Given the description of an element on the screen output the (x, y) to click on. 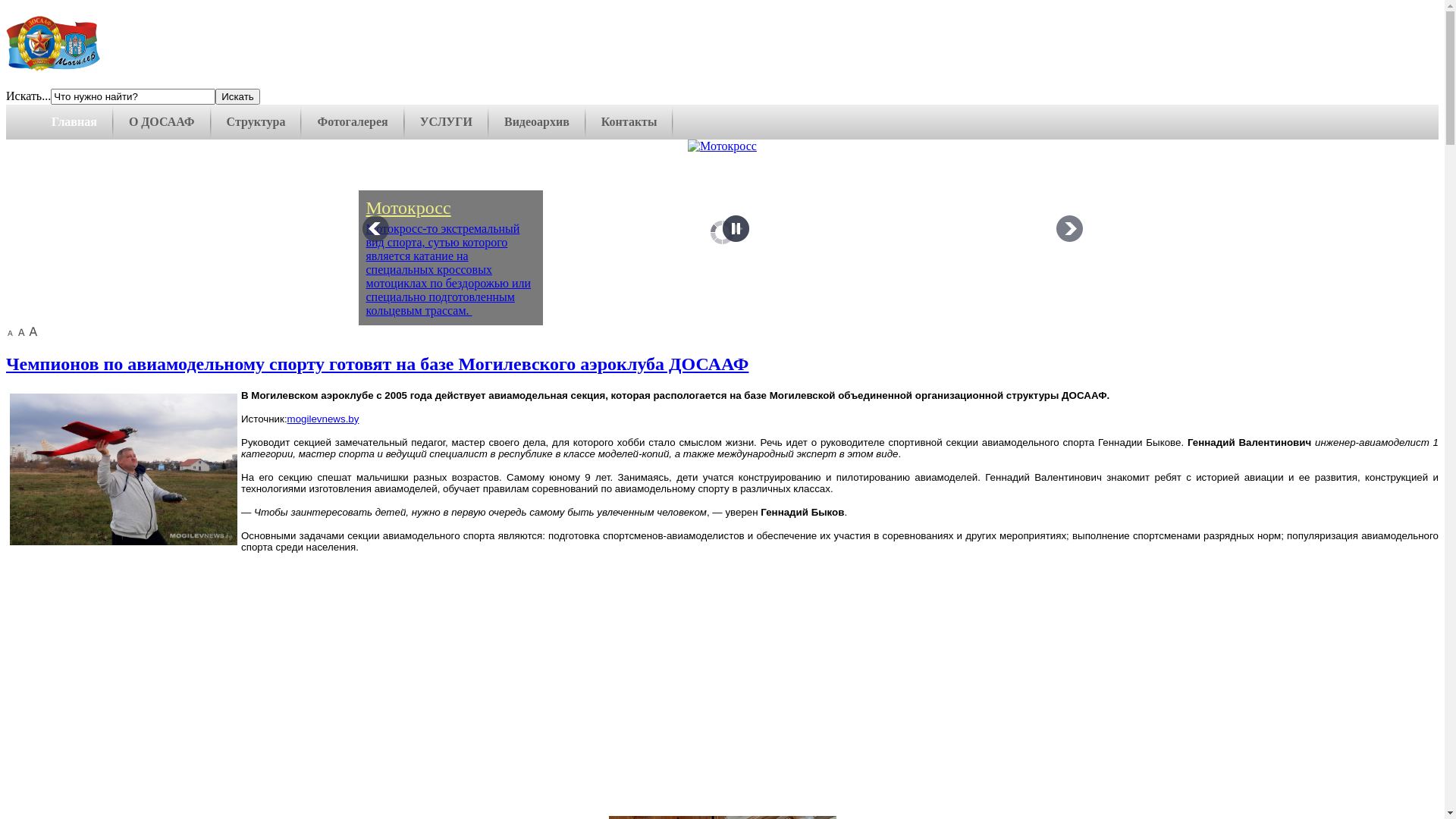
small size Element type: hover (10, 331)
normal size Element type: hover (21, 331)
YouTube video player Element type: hover (721, 683)
mogilevnews.by Element type: text (323, 418)
large size Element type: hover (32, 331)
